Given the description of an element on the screen output the (x, y) to click on. 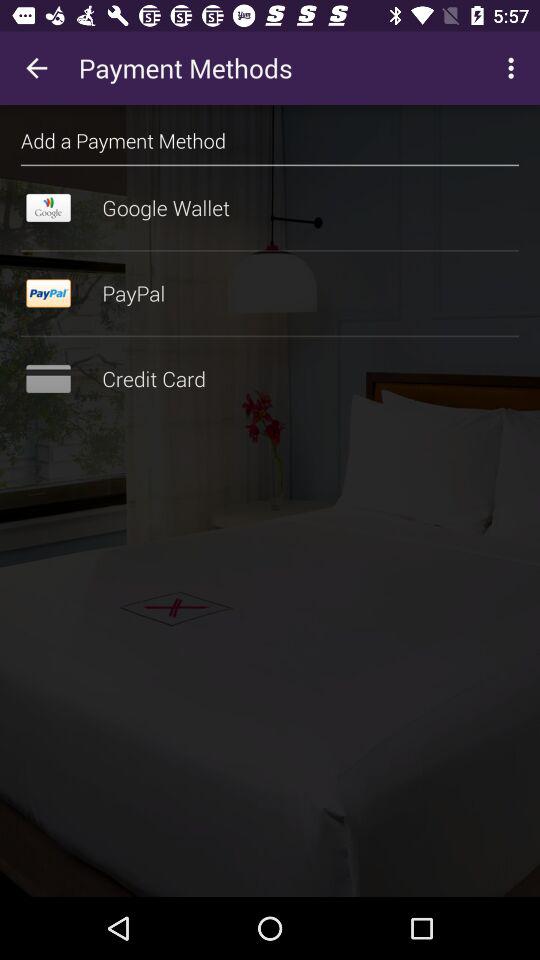
choose icon below the add a payment icon (270, 165)
